Given the description of an element on the screen output the (x, y) to click on. 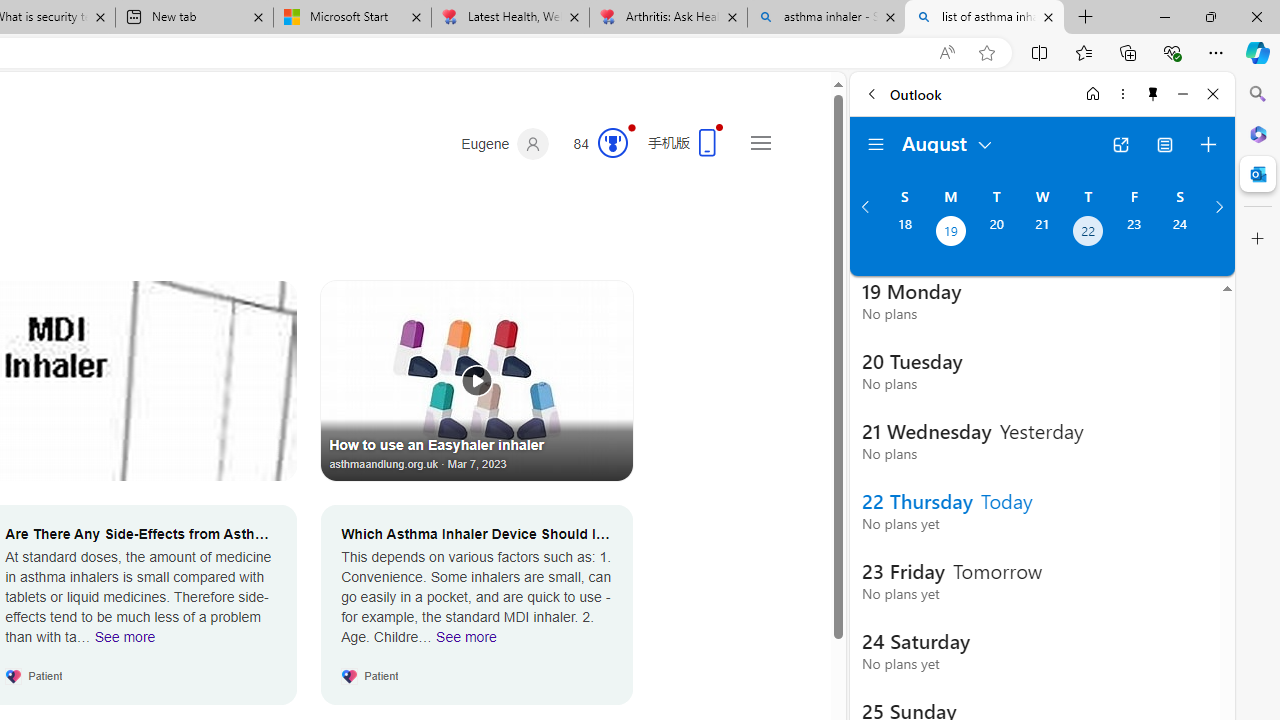
How to use an Easyhaler inhaler (477, 380)
August (948, 141)
Arthritis: Ask Health Professionals (668, 17)
asthma inhaler - Search (825, 17)
Animation (632, 127)
list of asthma inhalers uk - Search (984, 17)
